Given the description of an element on the screen output the (x, y) to click on. 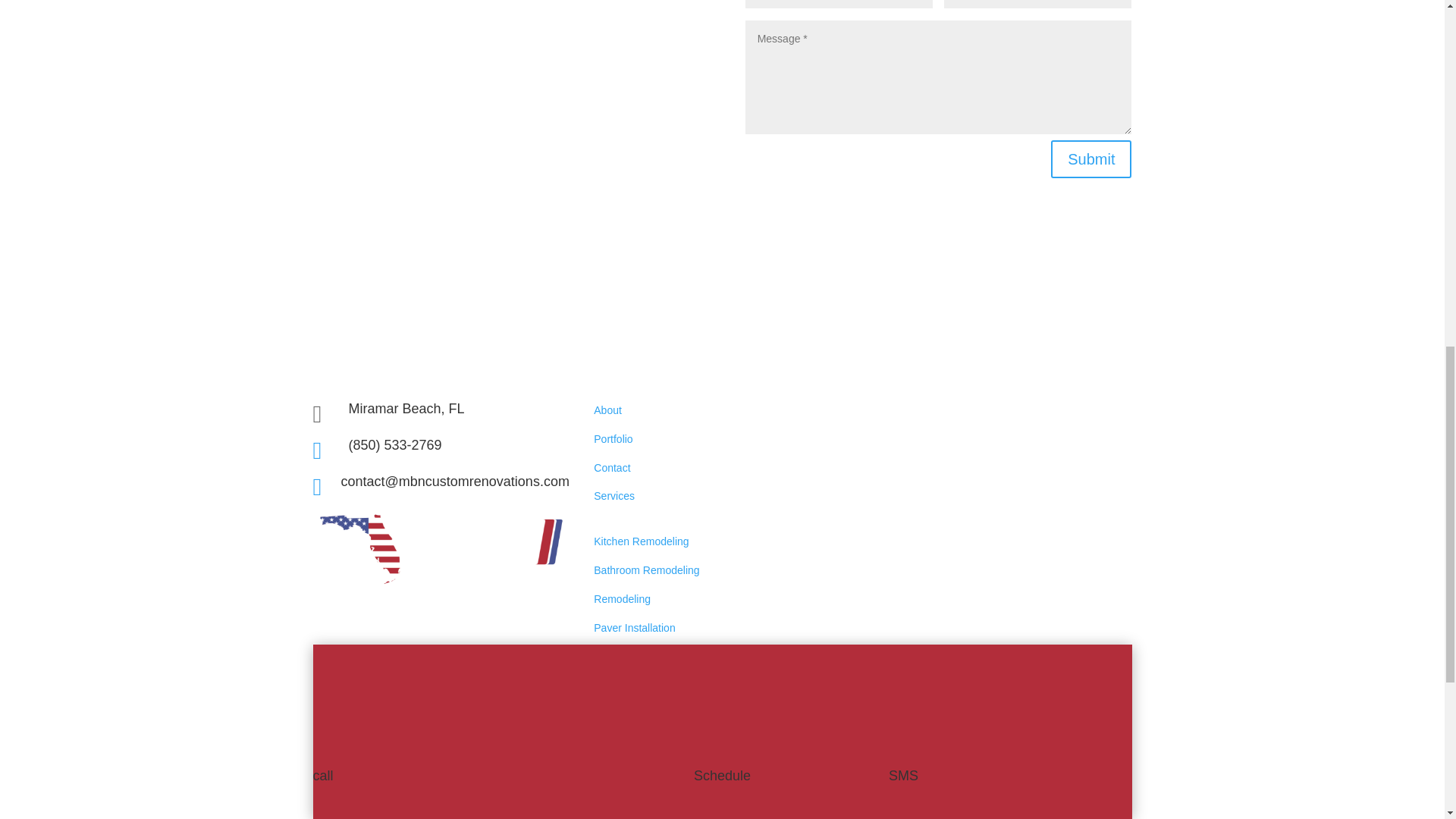
Flooring (612, 673)
Painting (612, 702)
Portfolio (612, 439)
Kitchen Remodeling (641, 541)
Countertops (622, 758)
Paver Installation (634, 627)
logo-1024x293 (441, 548)
Submit (1091, 159)
Contact (612, 467)
Cabinetry (616, 729)
